Given the description of an element on the screen output the (x, y) to click on. 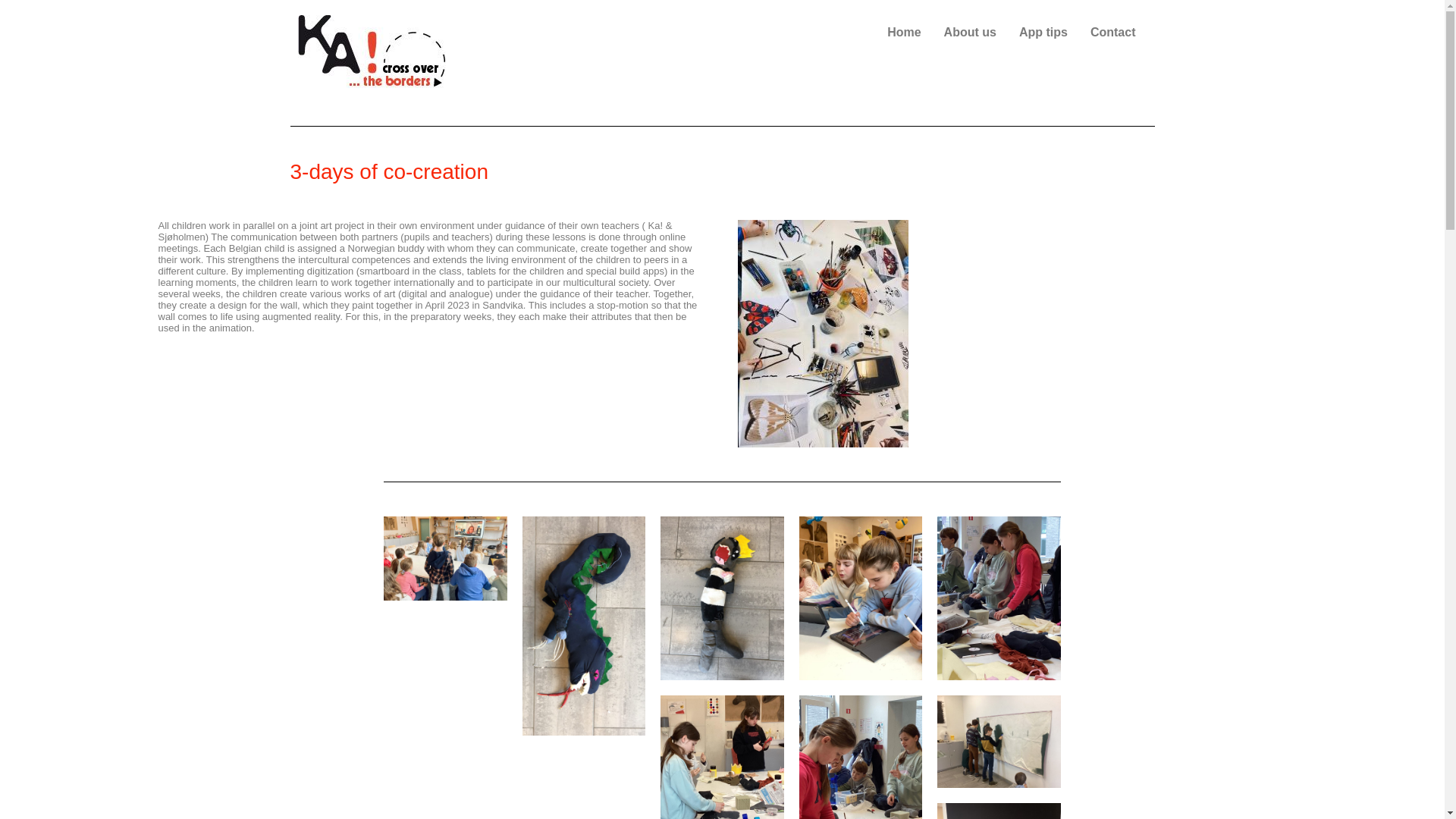
3-days of co-creation (721, 171)
Home (903, 32)
About us (970, 32)
Contact (1112, 32)
App tips (1042, 32)
